Given the description of an element on the screen output the (x, y) to click on. 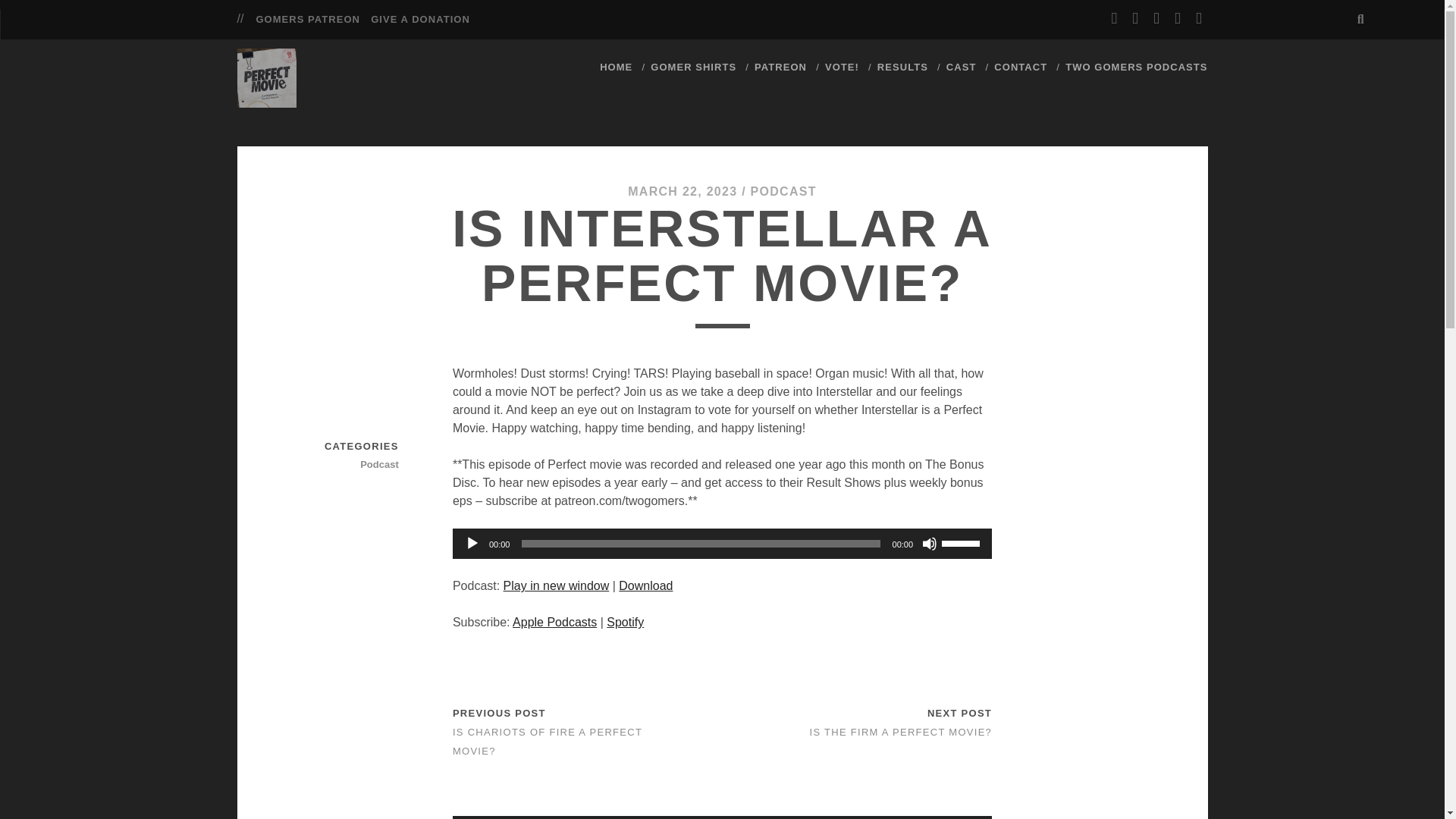
GOMER SHIRTS (693, 67)
HOME (615, 67)
Play in new window (556, 585)
CONTACT (1020, 67)
Download (645, 585)
PODCAST (783, 191)
CAST (961, 67)
Subscribe on Apple Podcasts (554, 621)
Mute (929, 543)
GOMERS PATREON (307, 19)
